Given the description of an element on the screen output the (x, y) to click on. 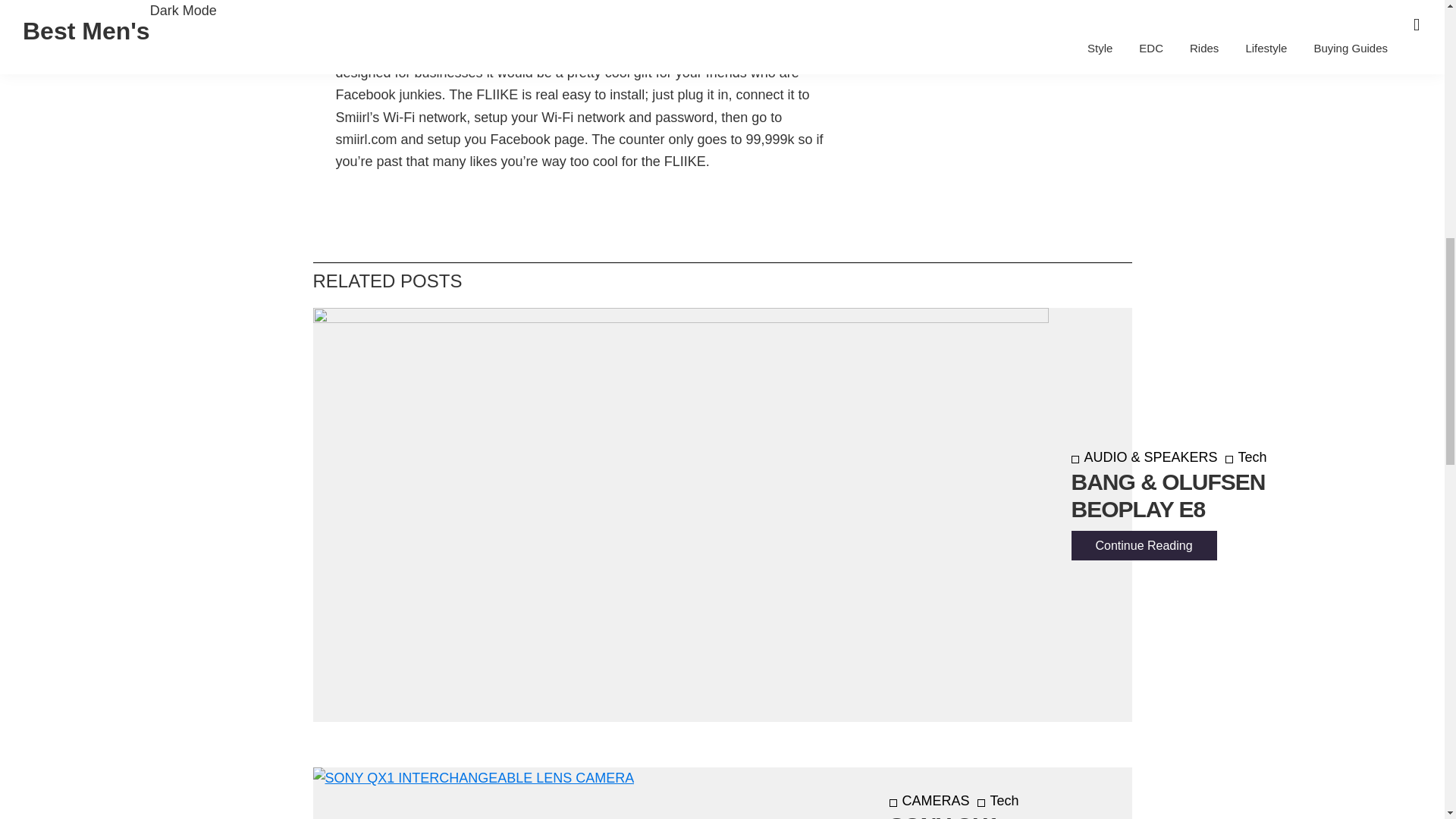
Tech (997, 800)
CAMERAS (928, 800)
FLIIKE (356, 50)
SONY QX1 INTERCHANGEABLE LENS CAMERA (997, 816)
Tech (1245, 457)
Continue Reading (1142, 545)
